Given the description of an element on the screen output the (x, y) to click on. 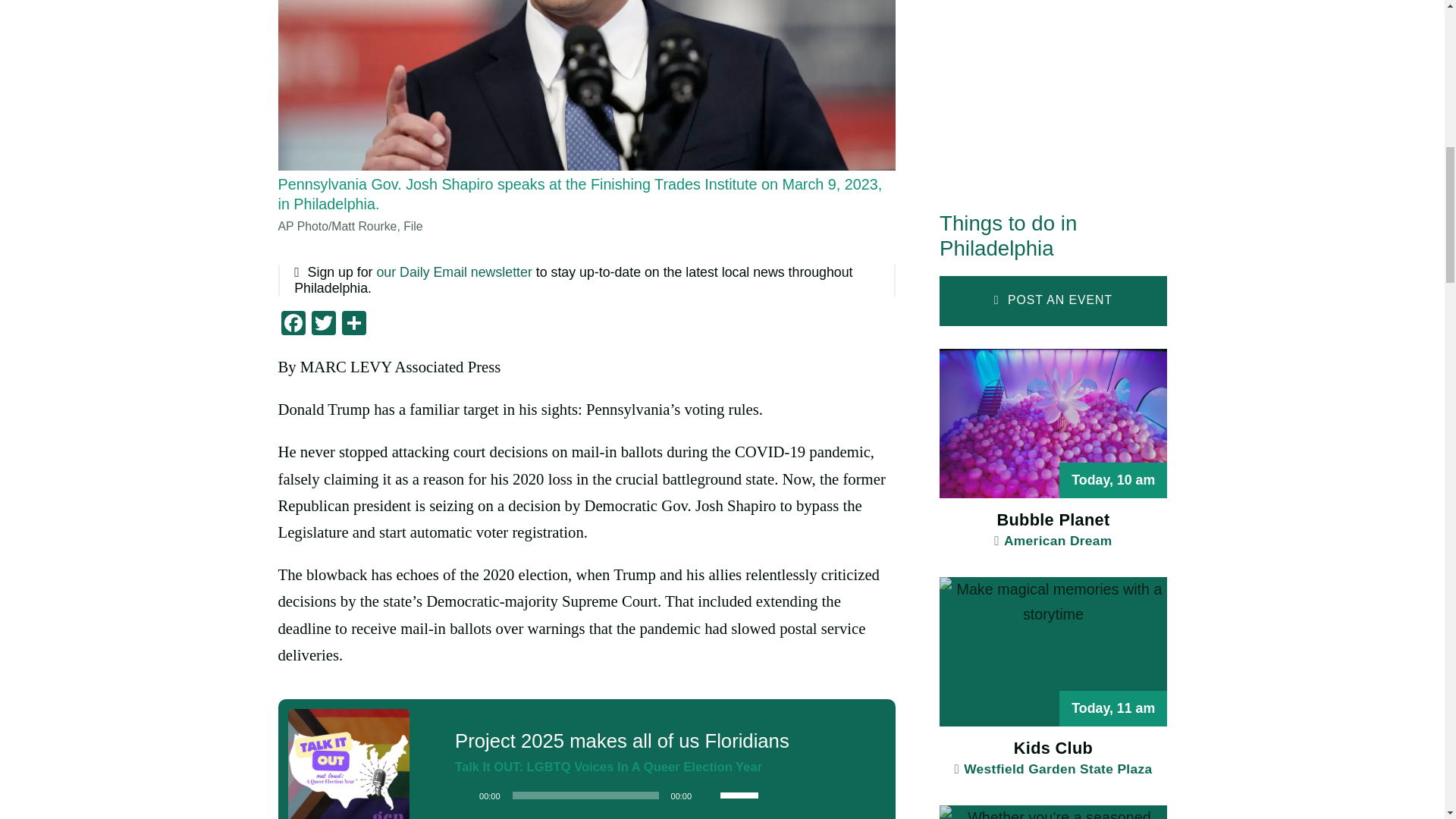
Play (462, 795)
Mute (708, 795)
Facebook (292, 325)
Twitter (322, 325)
